Given the description of an element on the screen output the (x, y) to click on. 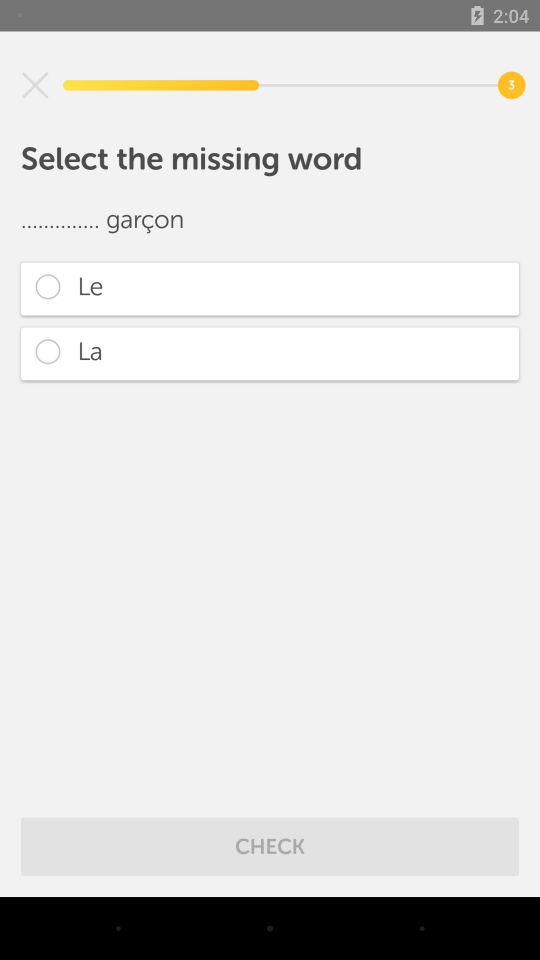
turn off the la at the center (270, 353)
